Given the description of an element on the screen output the (x, y) to click on. 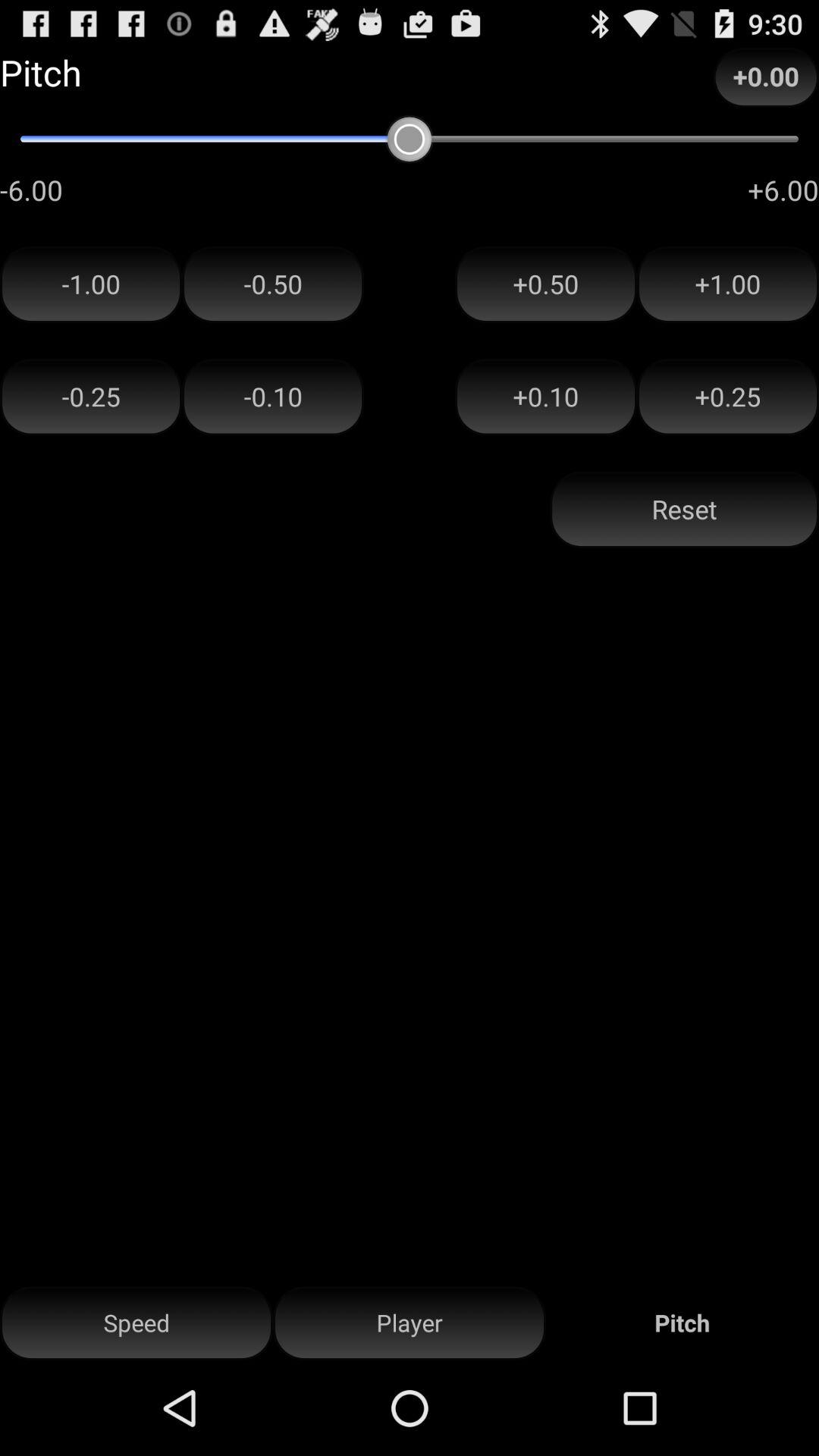
select reset button (684, 509)
